Given the description of an element on the screen output the (x, y) to click on. 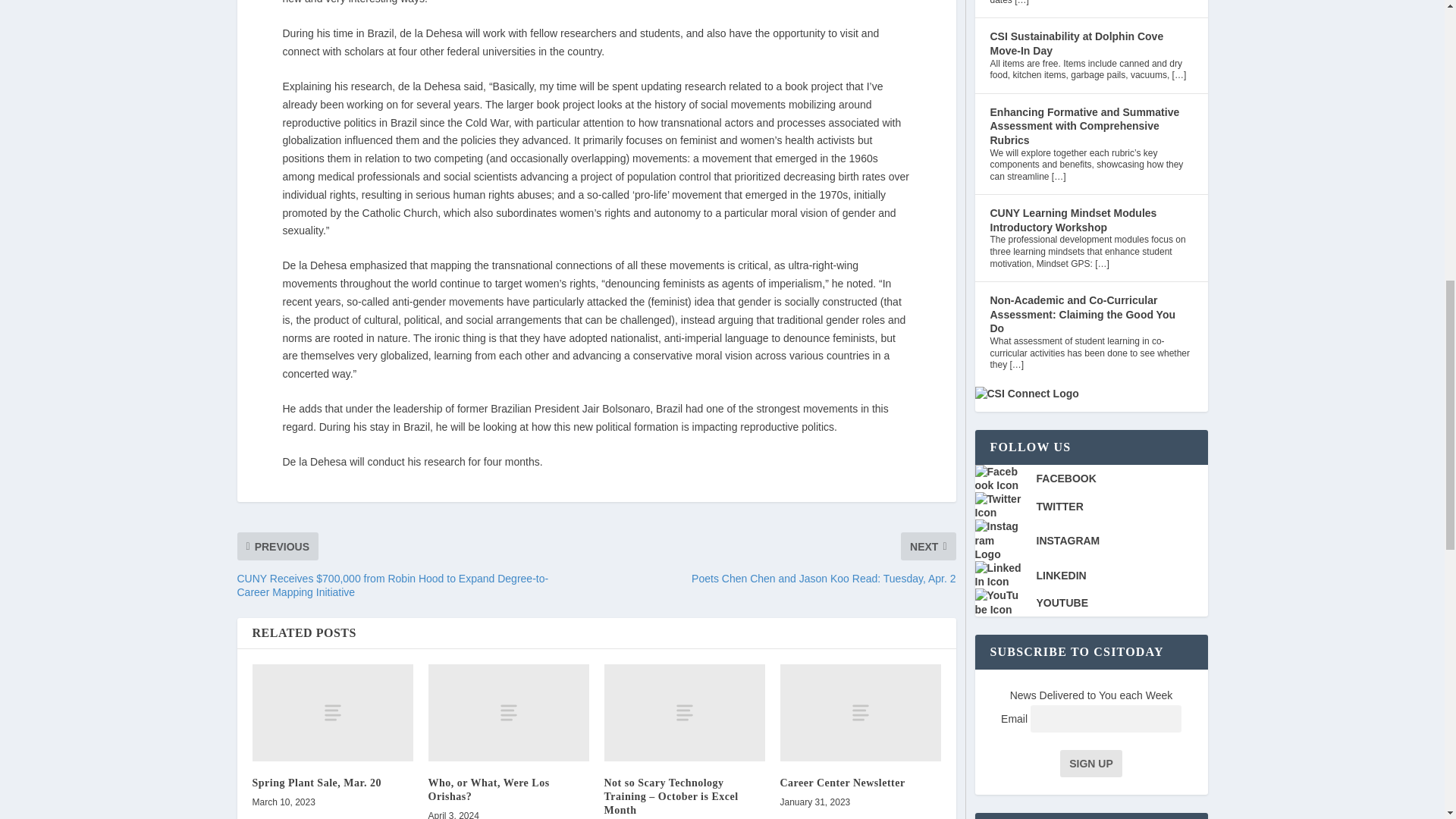
Spring Plant Sale, Mar. 20 (331, 712)
Career Center Newsletter (841, 782)
Who, or What, Were Los Orishas? (488, 789)
Sign up (1090, 763)
Career Center Newsletter (859, 712)
Who, or What, Were Los Orishas? (508, 712)
Spring Plant Sale, Mar. 20 (315, 782)
